Given the description of an element on the screen output the (x, y) to click on. 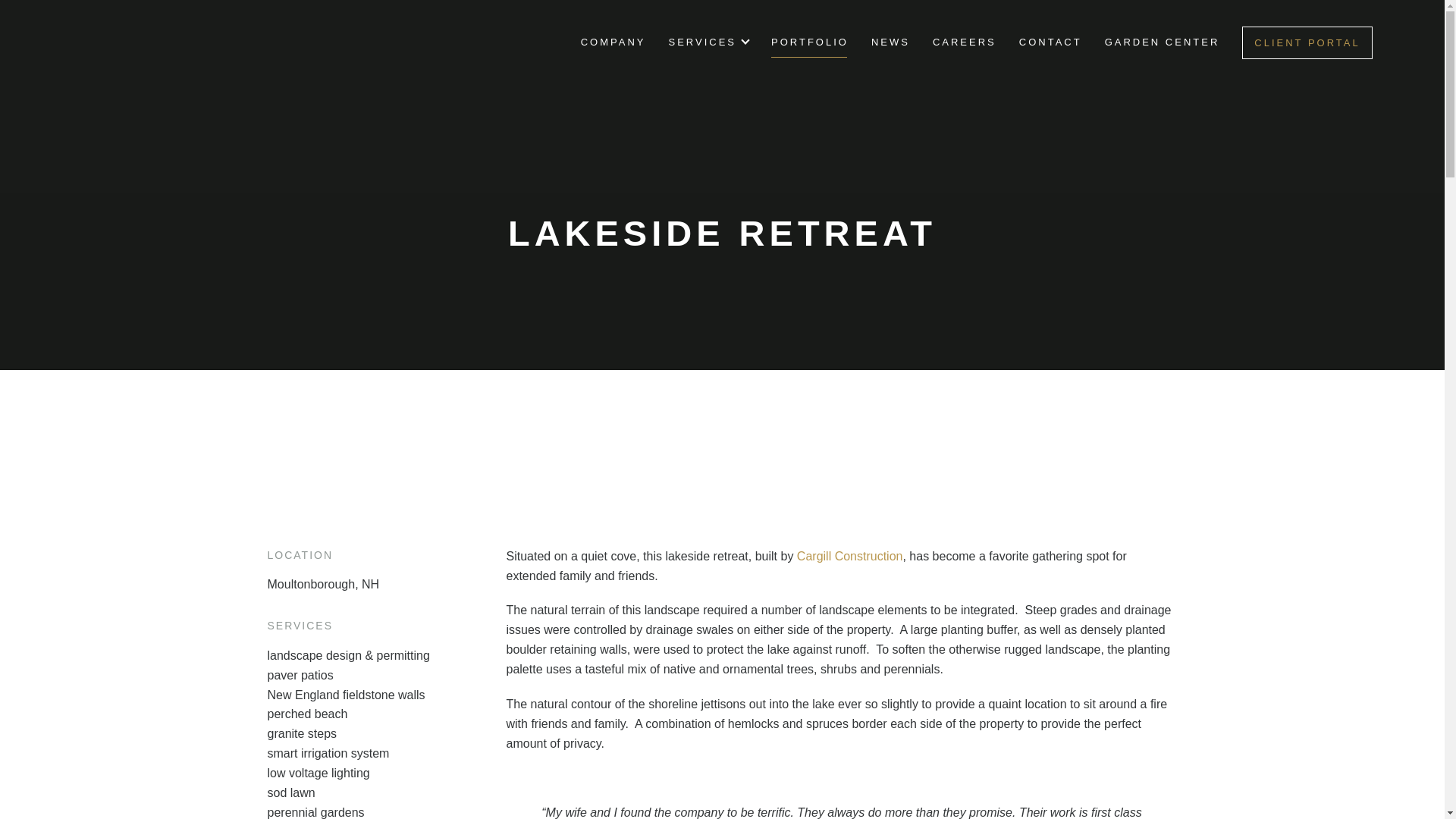
CLIENT PORTAL (1306, 42)
CONTACT (1050, 41)
NEWS (890, 41)
GARDEN CENTER (1162, 41)
SERVICES (702, 41)
CAREERS (964, 41)
Cargill Construction (849, 555)
COMPANY (613, 41)
PORTFOLIO (809, 41)
